Given the description of an element on the screen output the (x, y) to click on. 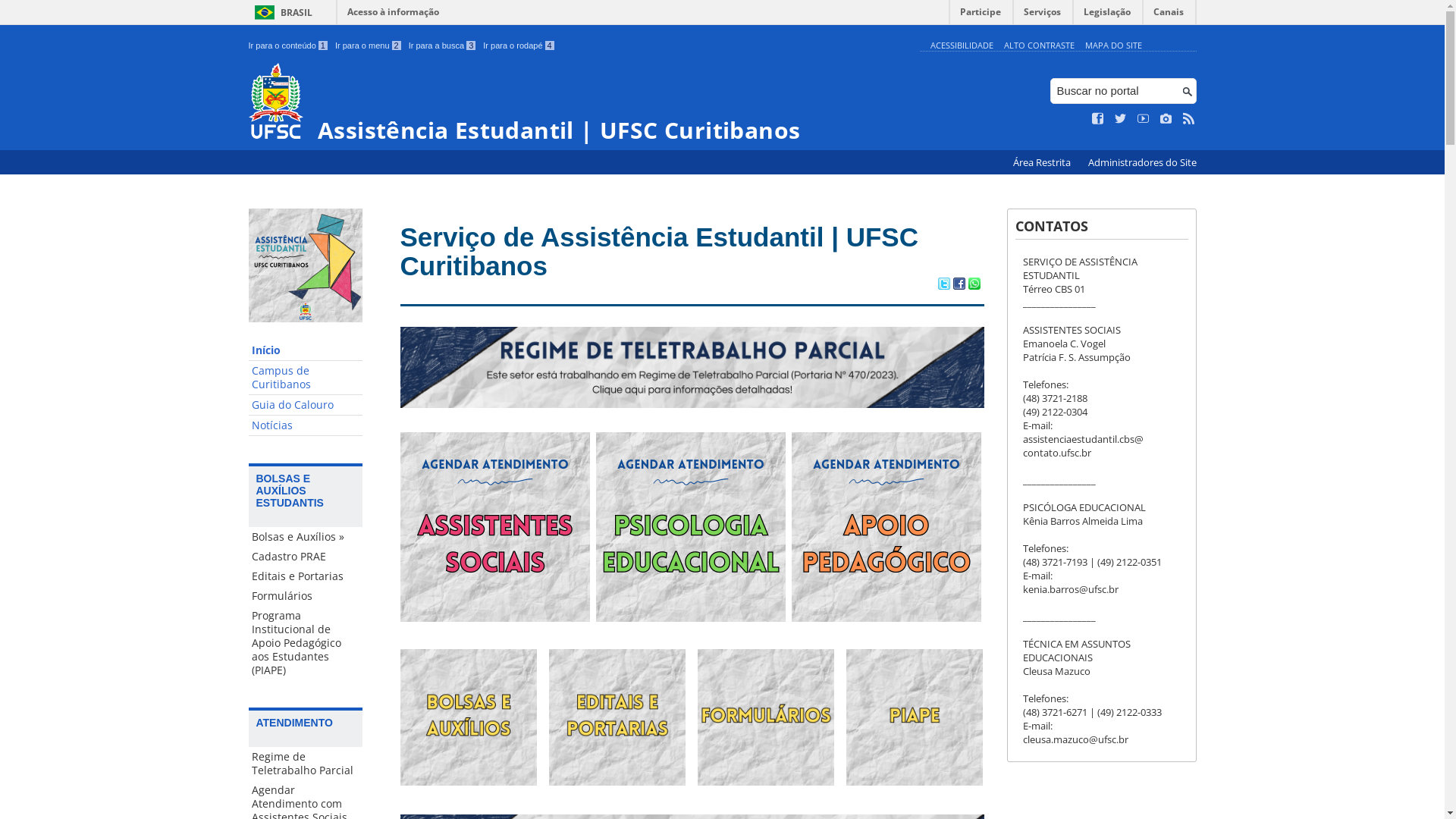
ACESSIBILIDADE Element type: text (960, 44)
Curta no Facebook Element type: hover (1098, 118)
MAPA DO SITE Element type: text (1112, 44)
Siga no Twitter Element type: hover (1120, 118)
Canais Element type: text (1169, 15)
Campus de Curitibanos Element type: text (305, 377)
Ir para o menu 2 Element type: text (368, 45)
Compartilhar no Twitter Element type: hover (943, 284)
Compartilhar no Facebook Element type: hover (958, 284)
Regime de Teletrabalho Parcial Element type: text (305, 763)
Cadastro PRAE Element type: text (305, 556)
Compartilhar no WhatsApp Element type: hover (973, 284)
Guia do Calouro Element type: text (305, 405)
Ir para a busca 3 Element type: text (442, 45)
BRASIL Element type: text (280, 12)
ALTO CONTRASTE Element type: text (1039, 44)
Administradores do Site Element type: text (1141, 162)
Editais e Portarias Element type: text (305, 576)
Participe Element type: text (980, 15)
Veja no Instagram Element type: hover (1166, 118)
